Given the description of an element on the screen output the (x, y) to click on. 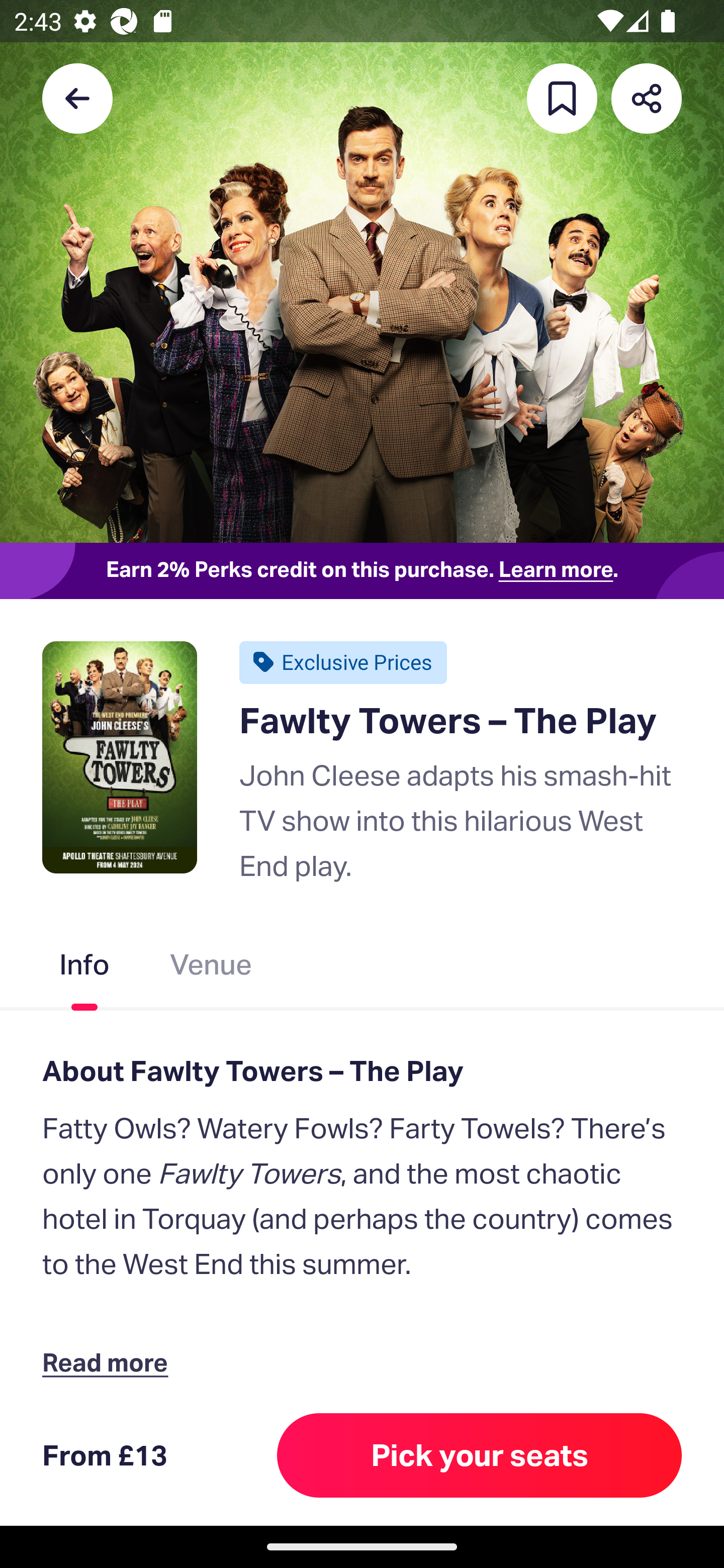
Earn 2% Perks credit on this purchase. Learn more. (362, 570)
Venue (210, 968)
About Fawlty Towers – The Play (361, 1070)
Read more (109, 1361)
Pick your seats (479, 1454)
